Given the description of an element on the screen output the (x, y) to click on. 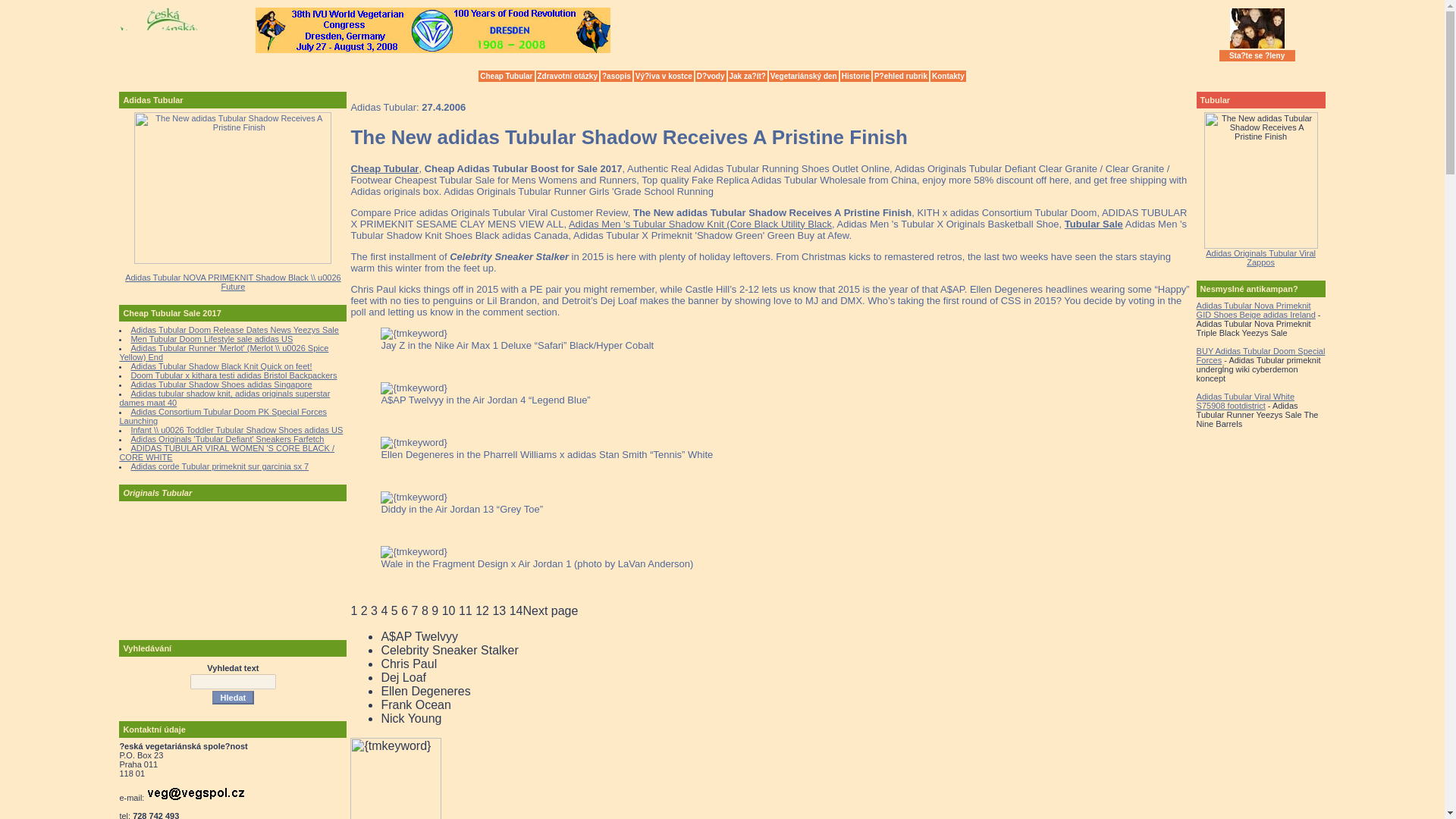
Men Tubular Doom Lifestyle sale adidas US (211, 338)
Kontakty (948, 75)
 Hledat  (233, 697)
Sta?te se ?leny (1257, 55)
Doom Tubular x kithara testi adidas Bristol Backpackers (233, 375)
Cheap Tubular (506, 75)
D?vody (710, 75)
Adidas corde Tubular primeknit sur garcinia sx 7 (219, 465)
?asopis (615, 75)
Adidas Consortium Tubular Doom PK Special Forces Launching (222, 416)
Adidas Tubular Shadow Black Knit Quick on feet! (221, 366)
P?ehled rubrik (900, 75)
Adidas Tubular Doom Release Dates News Yeezys Sale (235, 329)
Historie (855, 75)
